Given the description of an element on the screen output the (x, y) to click on. 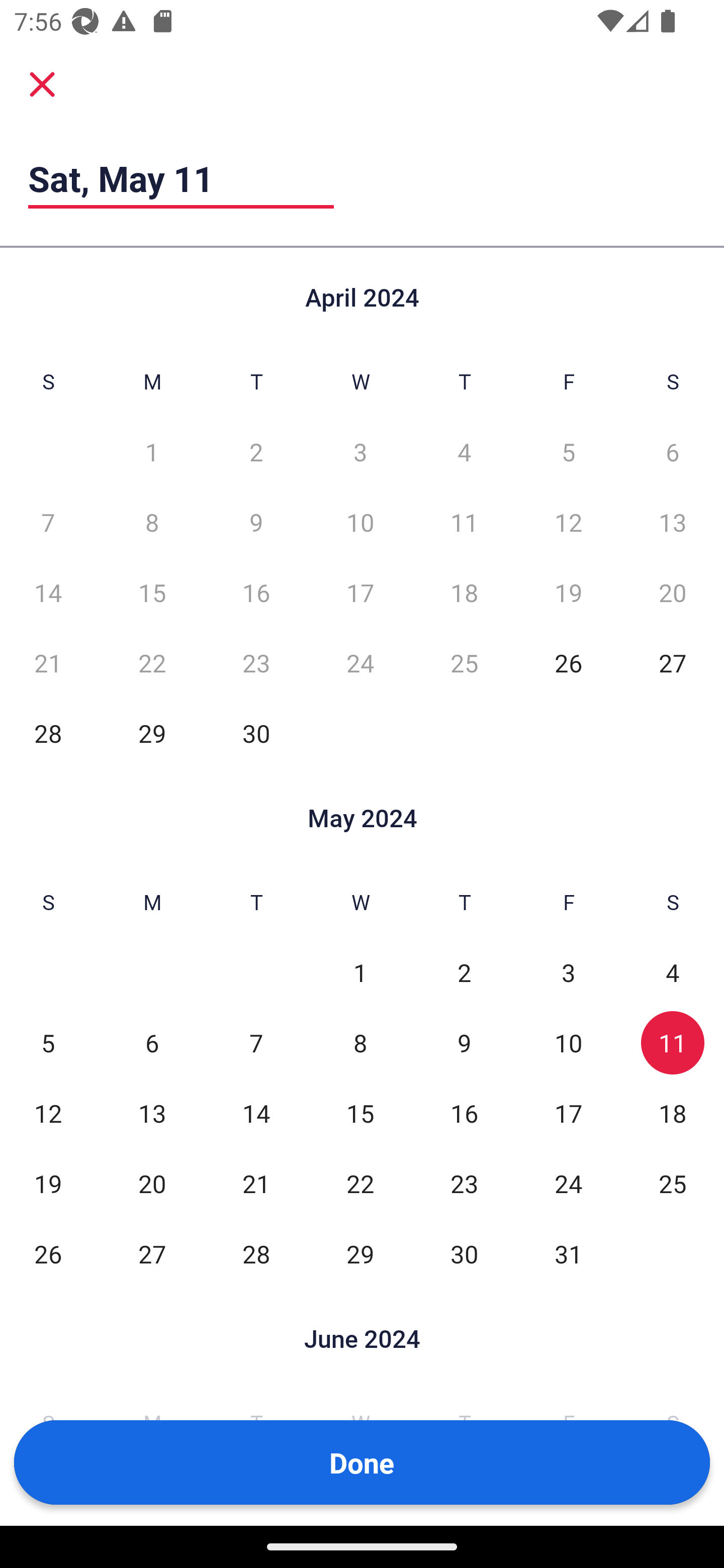
Cancel (41, 83)
Sat, May 11 (180, 178)
1 Mon, Apr 1, Not Selected (152, 452)
2 Tue, Apr 2, Not Selected (256, 452)
3 Wed, Apr 3, Not Selected (360, 452)
4 Thu, Apr 4, Not Selected (464, 452)
5 Fri, Apr 5, Not Selected (568, 452)
6 Sat, Apr 6, Not Selected (672, 452)
7 Sun, Apr 7, Not Selected (48, 521)
8 Mon, Apr 8, Not Selected (152, 521)
9 Tue, Apr 9, Not Selected (256, 521)
10 Wed, Apr 10, Not Selected (360, 521)
11 Thu, Apr 11, Not Selected (464, 521)
12 Fri, Apr 12, Not Selected (568, 521)
13 Sat, Apr 13, Not Selected (672, 521)
14 Sun, Apr 14, Not Selected (48, 591)
15 Mon, Apr 15, Not Selected (152, 591)
16 Tue, Apr 16, Not Selected (256, 591)
17 Wed, Apr 17, Not Selected (360, 591)
18 Thu, Apr 18, Not Selected (464, 591)
19 Fri, Apr 19, Not Selected (568, 591)
20 Sat, Apr 20, Not Selected (672, 591)
21 Sun, Apr 21, Not Selected (48, 662)
22 Mon, Apr 22, Not Selected (152, 662)
23 Tue, Apr 23, Not Selected (256, 662)
24 Wed, Apr 24, Not Selected (360, 662)
25 Thu, Apr 25, Not Selected (464, 662)
26 Fri, Apr 26, Not Selected (568, 662)
27 Sat, Apr 27, Not Selected (672, 662)
28 Sun, Apr 28, Not Selected (48, 732)
29 Mon, Apr 29, Not Selected (152, 732)
30 Tue, Apr 30, Not Selected (256, 732)
1 Wed, May 1, Not Selected (360, 972)
2 Thu, May 2, Not Selected (464, 972)
3 Fri, May 3, Not Selected (568, 972)
4 Sat, May 4, Not Selected (672, 972)
5 Sun, May 5, Not Selected (48, 1043)
6 Mon, May 6, Not Selected (152, 1043)
7 Tue, May 7, Not Selected (256, 1043)
8 Wed, May 8, Not Selected (360, 1043)
9 Thu, May 9, Not Selected (464, 1043)
10 Fri, May 10, Not Selected (568, 1043)
11 Sat, May 11, Selected (672, 1043)
12 Sun, May 12, Not Selected (48, 1112)
13 Mon, May 13, Not Selected (152, 1112)
14 Tue, May 14, Not Selected (256, 1112)
15 Wed, May 15, Not Selected (360, 1112)
16 Thu, May 16, Not Selected (464, 1112)
17 Fri, May 17, Not Selected (568, 1112)
18 Sat, May 18, Not Selected (672, 1112)
19 Sun, May 19, Not Selected (48, 1182)
20 Mon, May 20, Not Selected (152, 1182)
21 Tue, May 21, Not Selected (256, 1182)
22 Wed, May 22, Not Selected (360, 1182)
23 Thu, May 23, Not Selected (464, 1182)
24 Fri, May 24, Not Selected (568, 1182)
25 Sat, May 25, Not Selected (672, 1182)
26 Sun, May 26, Not Selected (48, 1253)
27 Mon, May 27, Not Selected (152, 1253)
28 Tue, May 28, Not Selected (256, 1253)
29 Wed, May 29, Not Selected (360, 1253)
30 Thu, May 30, Not Selected (464, 1253)
31 Fri, May 31, Not Selected (568, 1253)
Done Button Done (361, 1462)
